Given the description of an element on the screen output the (x, y) to click on. 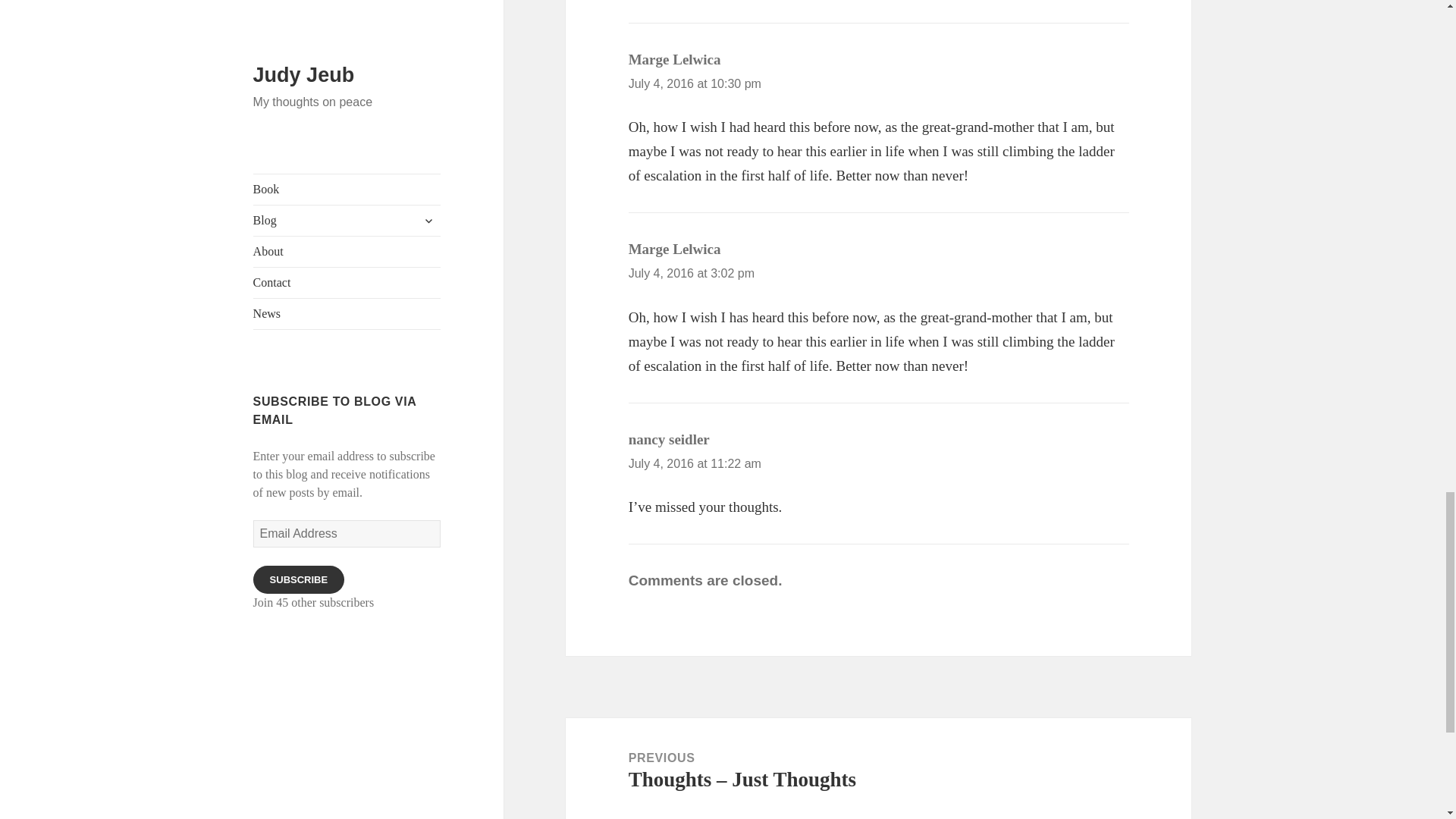
July 4, 2016 at 11:22 am (694, 463)
July 4, 2016 at 10:30 pm (694, 83)
July 4, 2016 at 3:02 pm (691, 273)
